Given the description of an element on the screen output the (x, y) to click on. 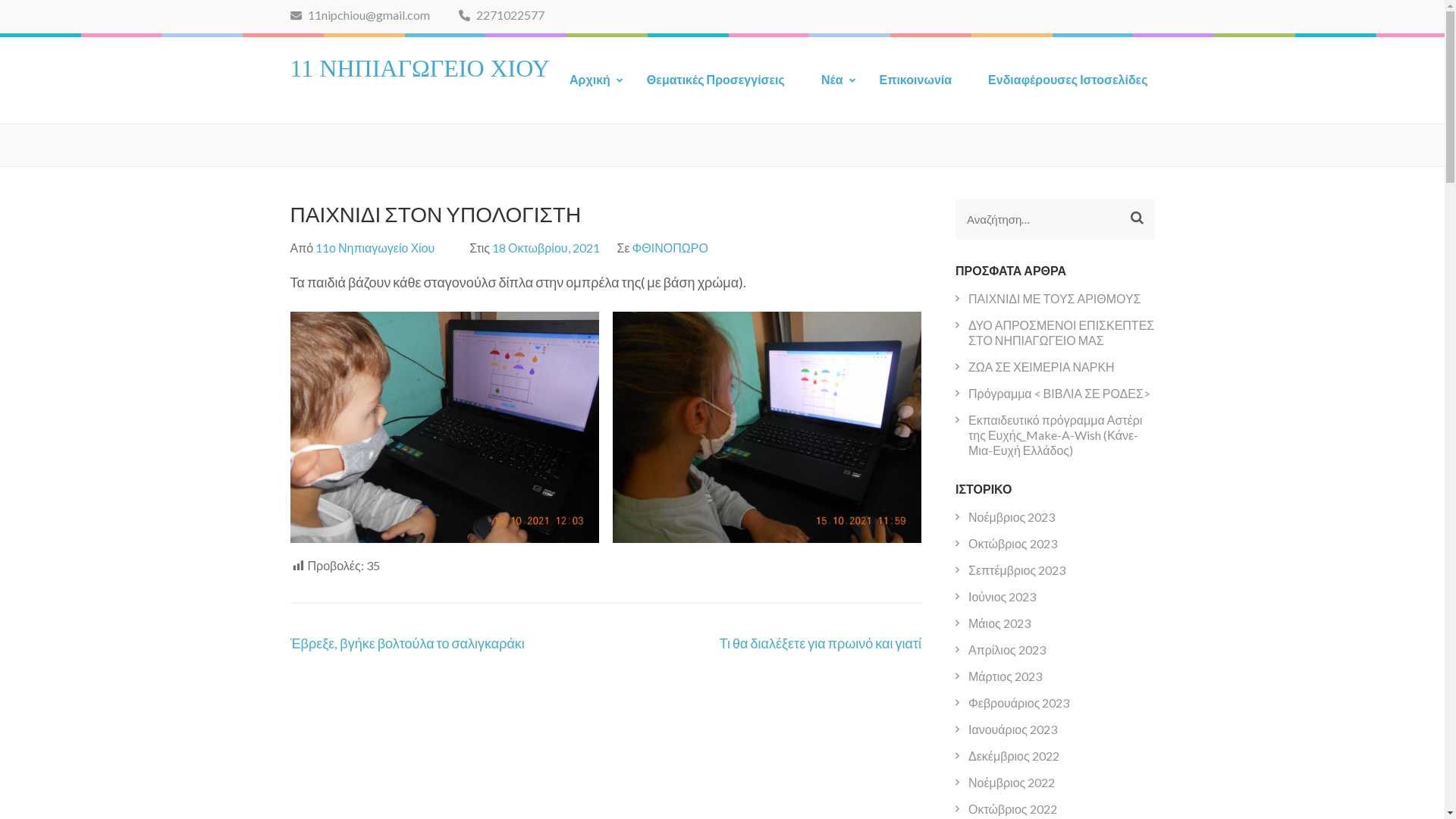
11nipchiou@gmail.com Element type: text (359, 14)
2271022577 Element type: text (500, 14)
